Given the description of an element on the screen output the (x, y) to click on. 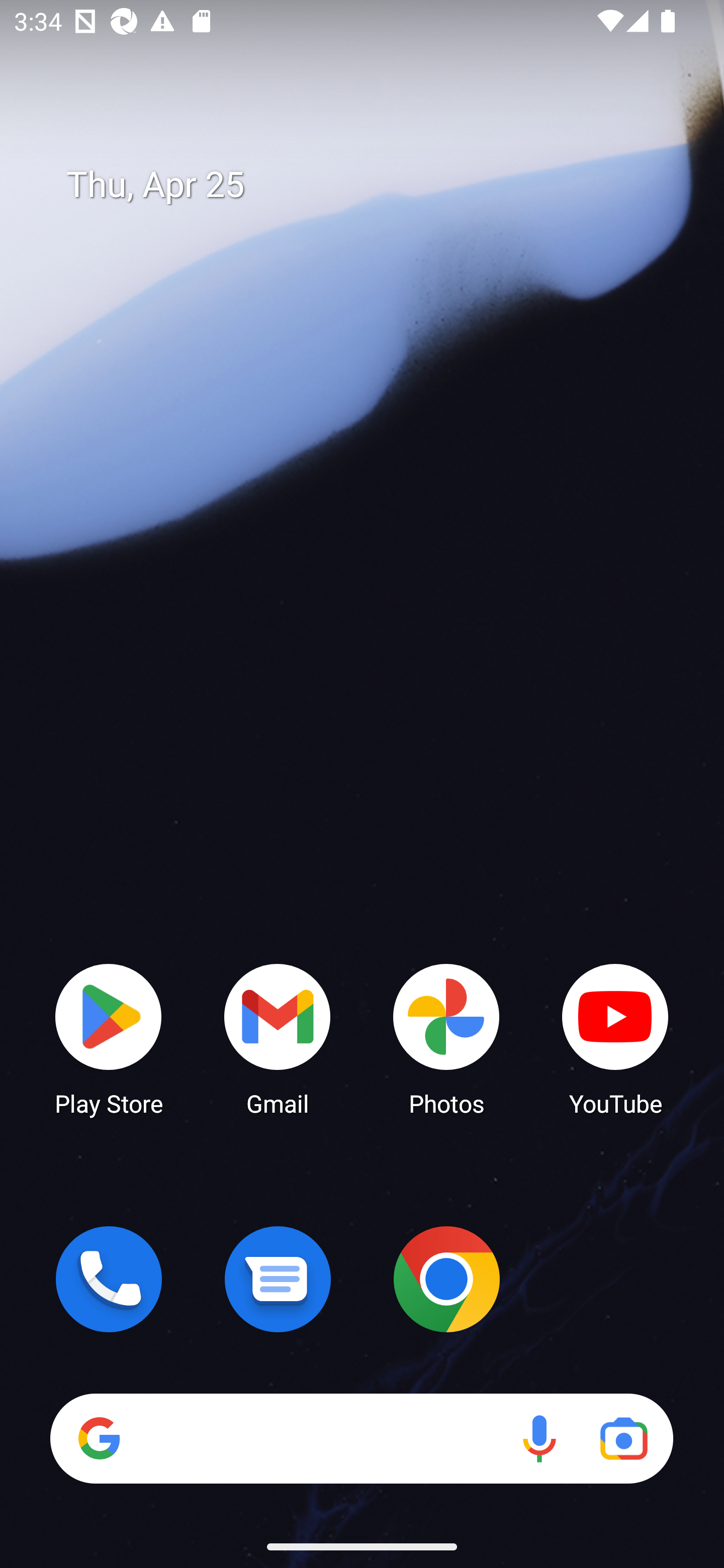
Thu, Apr 25 (375, 184)
Play Store (108, 1038)
Gmail (277, 1038)
Photos (445, 1038)
YouTube (615, 1038)
Phone (108, 1279)
Messages (277, 1279)
Chrome (446, 1279)
Search Voice search Google Lens (361, 1438)
Voice search (539, 1438)
Google Lens (623, 1438)
